Given the description of an element on the screen output the (x, y) to click on. 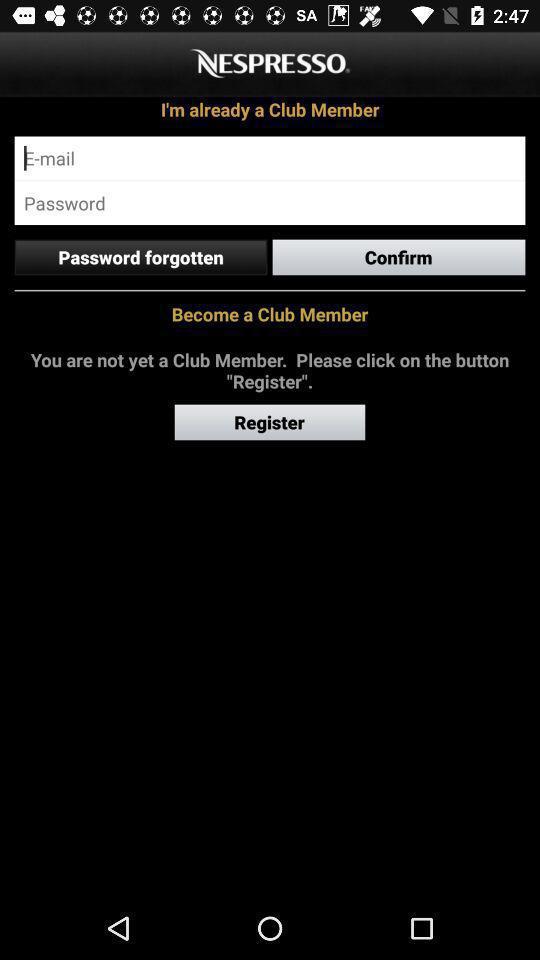
choose the icon next to the confirm item (140, 257)
